Given the description of an element on the screen output the (x, y) to click on. 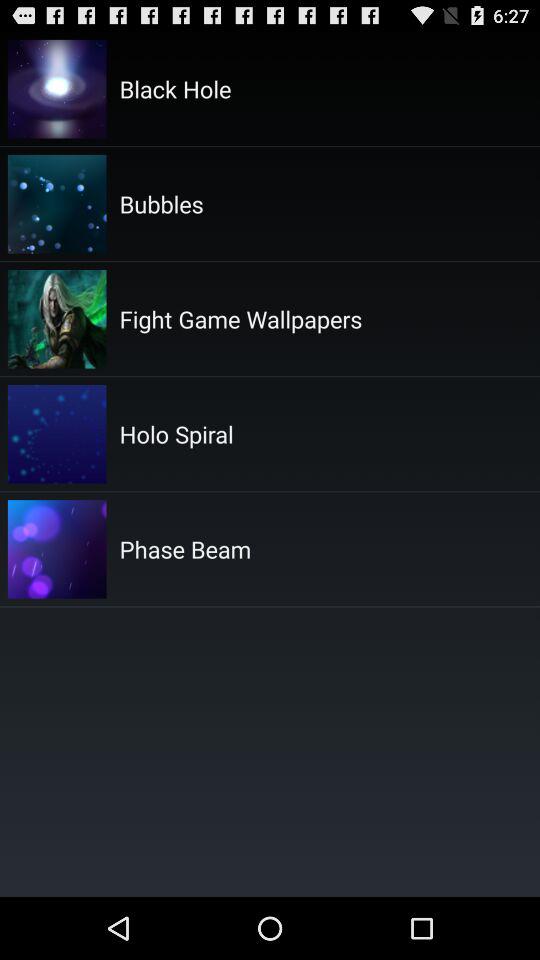
swipe to phase beam (185, 549)
